Given the description of an element on the screen output the (x, y) to click on. 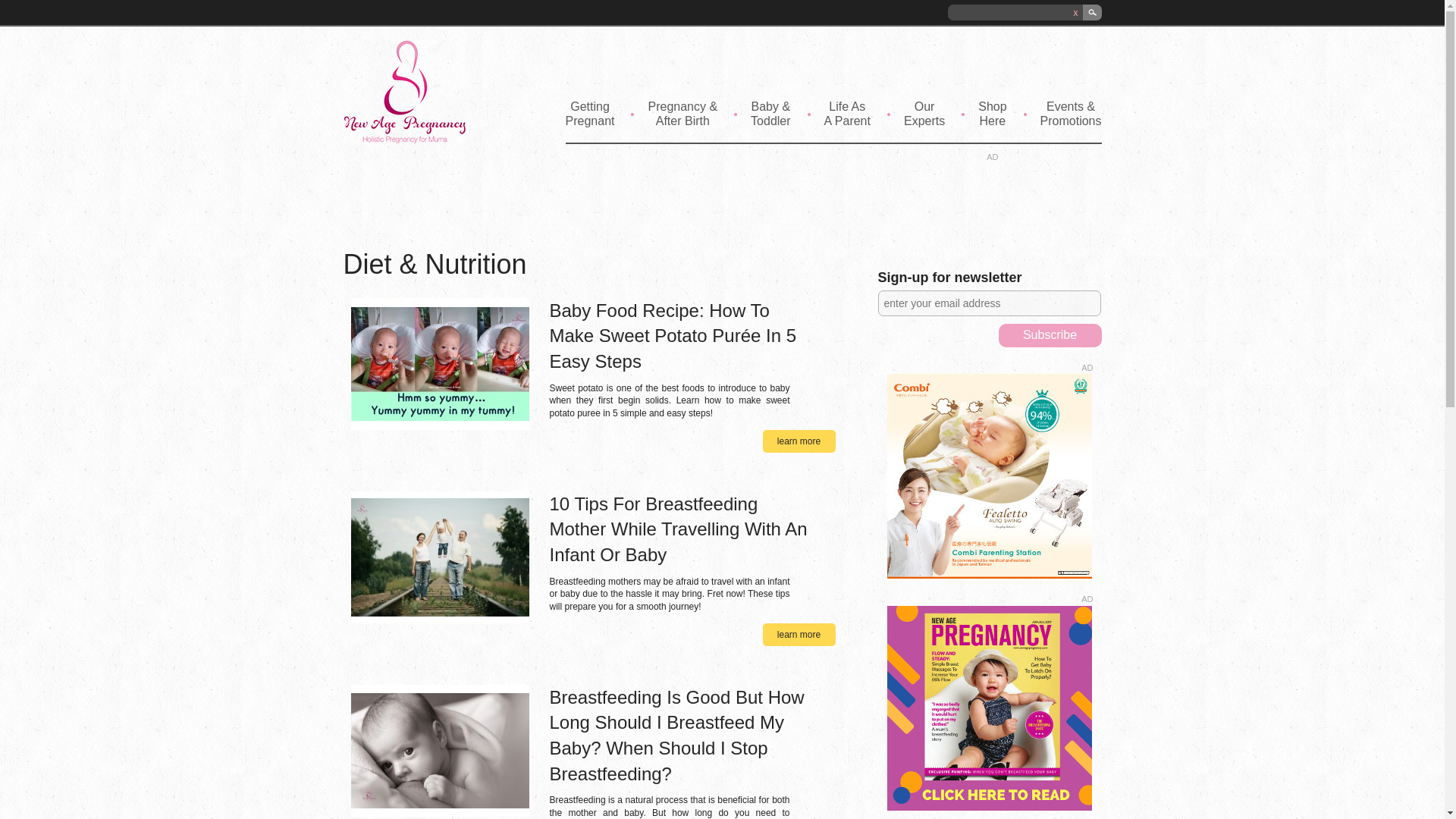
Search (1092, 12)
Search (1092, 12)
x (1075, 12)
x (1075, 12)
Subscribe (1048, 335)
Search (1092, 12)
